Given the description of an element on the screen output the (x, y) to click on. 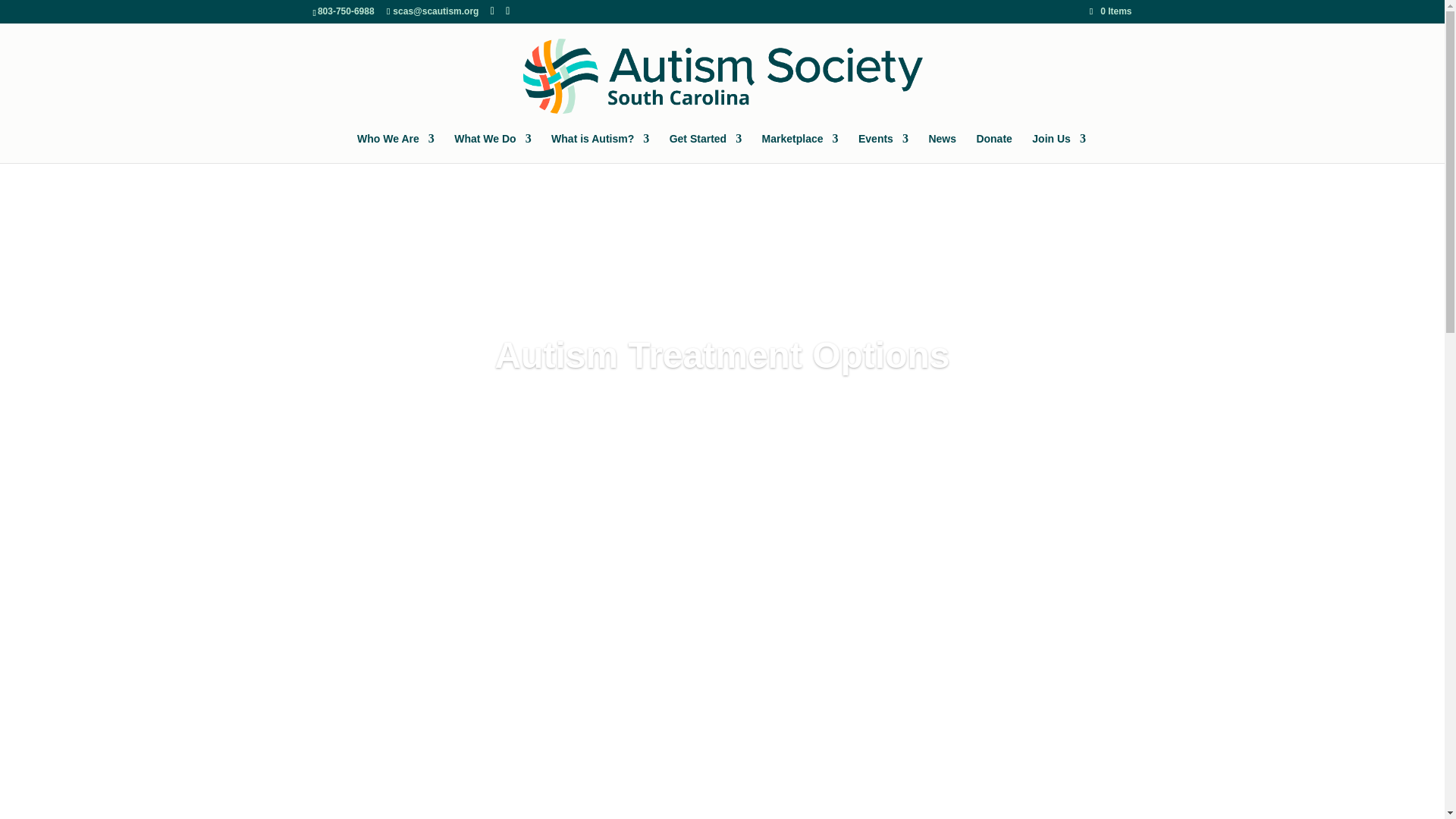
Get Started (705, 147)
Join Us (1059, 147)
What We Do (492, 147)
Who We Are (394, 147)
What is Autism? (600, 147)
0 Items (1110, 10)
News (942, 147)
Donate (993, 147)
Marketplace (799, 147)
Events (883, 147)
